Given the description of an element on the screen output the (x, y) to click on. 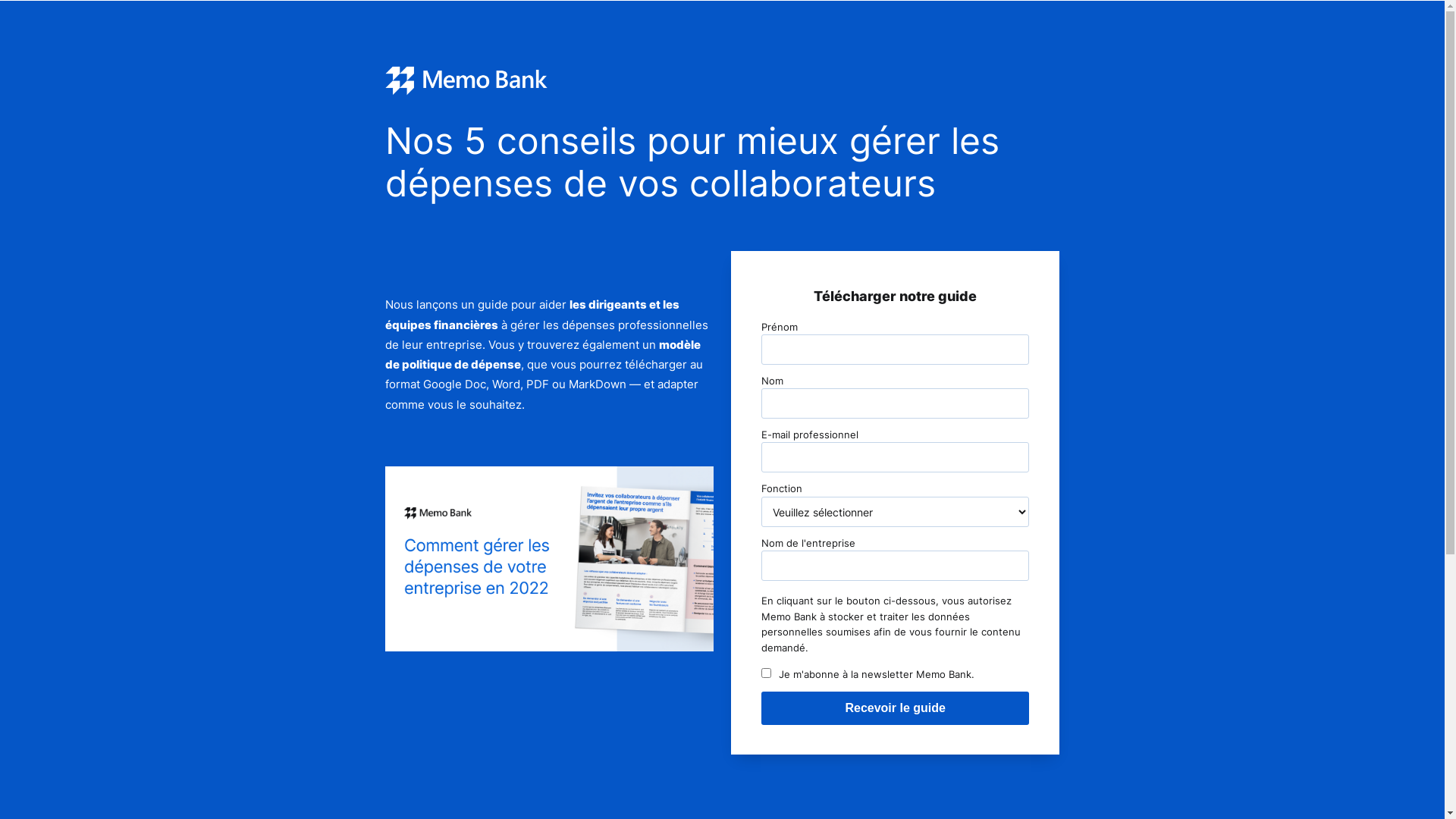
Recevoir le guide Element type: text (895, 707)
image Element type: hover (549, 558)
Memo-Bank-logo-white Element type: hover (466, 80)
